Given the description of an element on the screen output the (x, y) to click on. 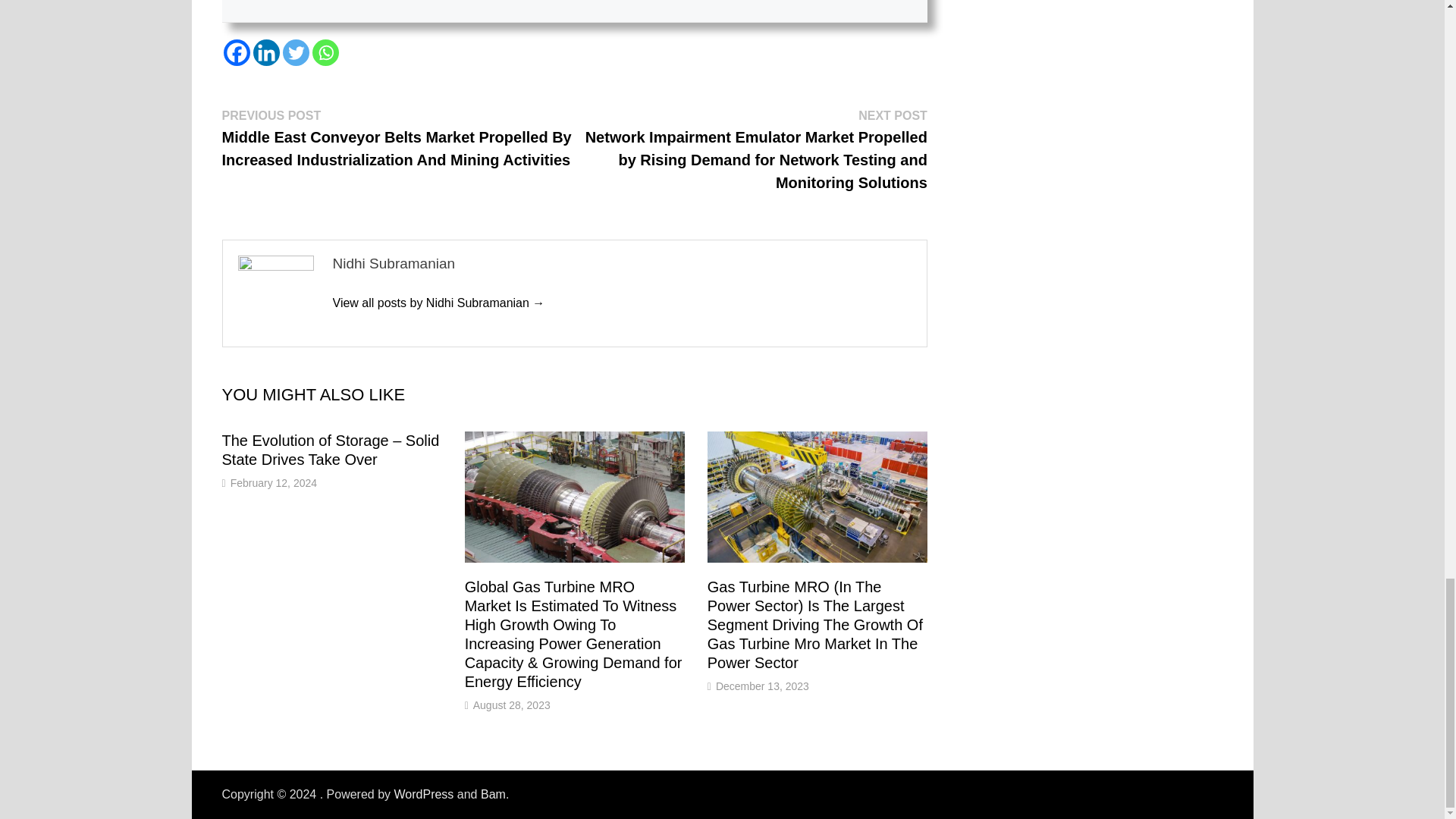
Facebook (235, 52)
Twitter (295, 52)
Nidhi Subramanian (437, 302)
Linkedin (266, 52)
Whatsapp (326, 52)
